Given the description of an element on the screen output the (x, y) to click on. 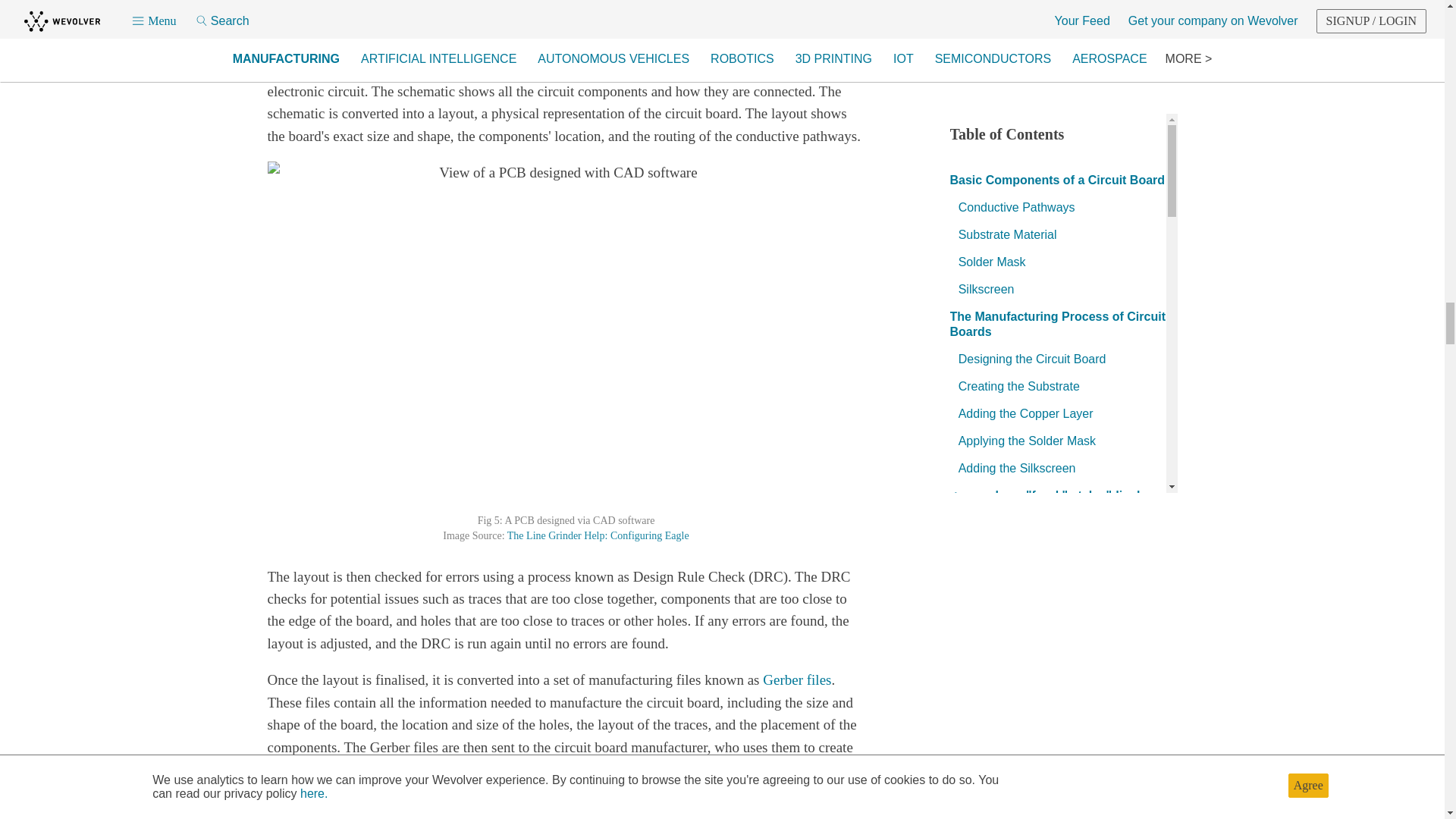
The Line Grinder Help: Configuring Eagle (597, 535)
How to Design a PCB Layout: A Comprehensive Guide (539, 805)
Gerber files (796, 679)
